Given the description of an element on the screen output the (x, y) to click on. 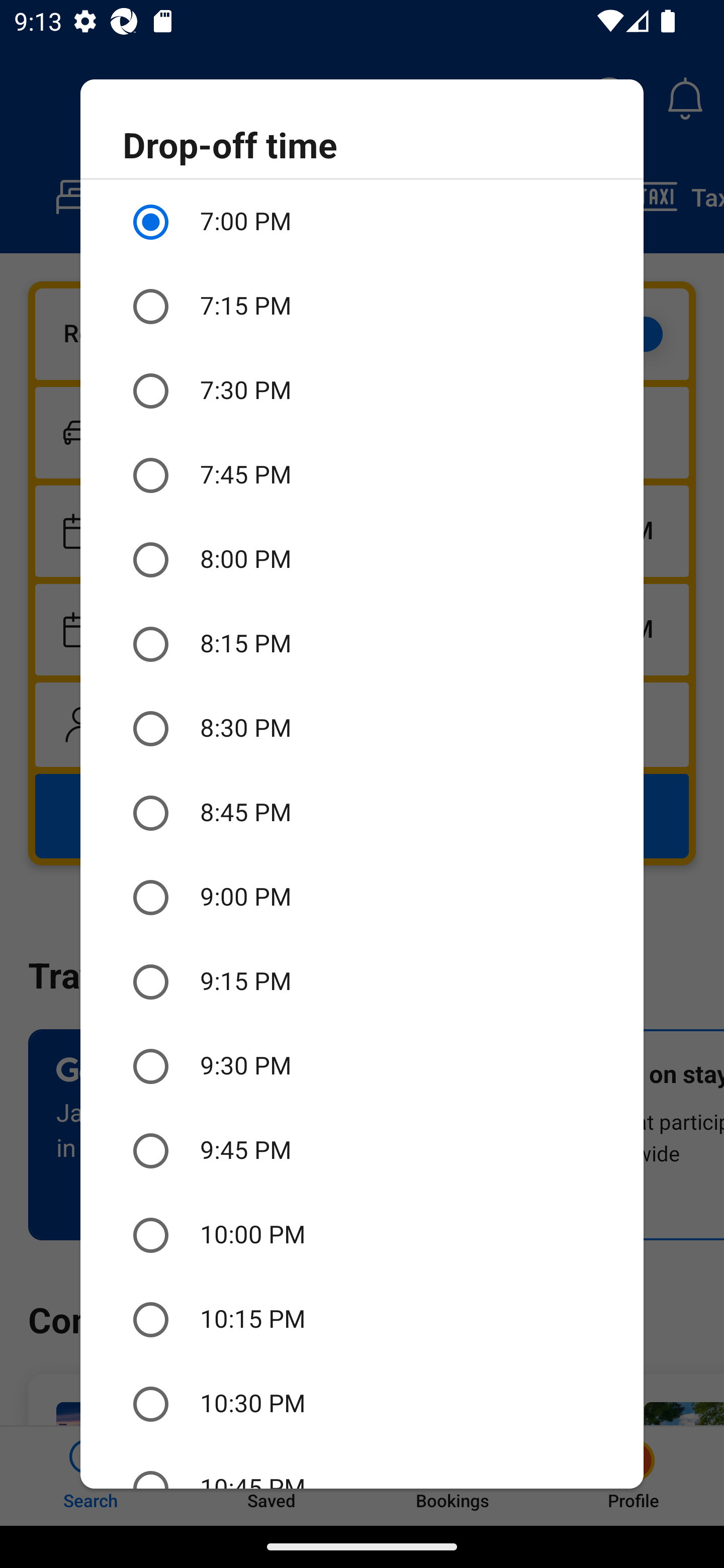
7:00 PM (361, 222)
7:15 PM (361, 306)
7:30 PM (361, 390)
7:45 PM (361, 474)
8:00 PM (361, 559)
8:15 PM (361, 644)
8:30 PM (361, 728)
8:45 PM (361, 813)
9:00 PM (361, 897)
9:15 PM (361, 981)
9:30 PM (361, 1065)
9:45 PM (361, 1150)
10:00 PM (361, 1235)
10:15 PM (361, 1319)
10:30 PM (361, 1403)
